Given the description of an element on the screen output the (x, y) to click on. 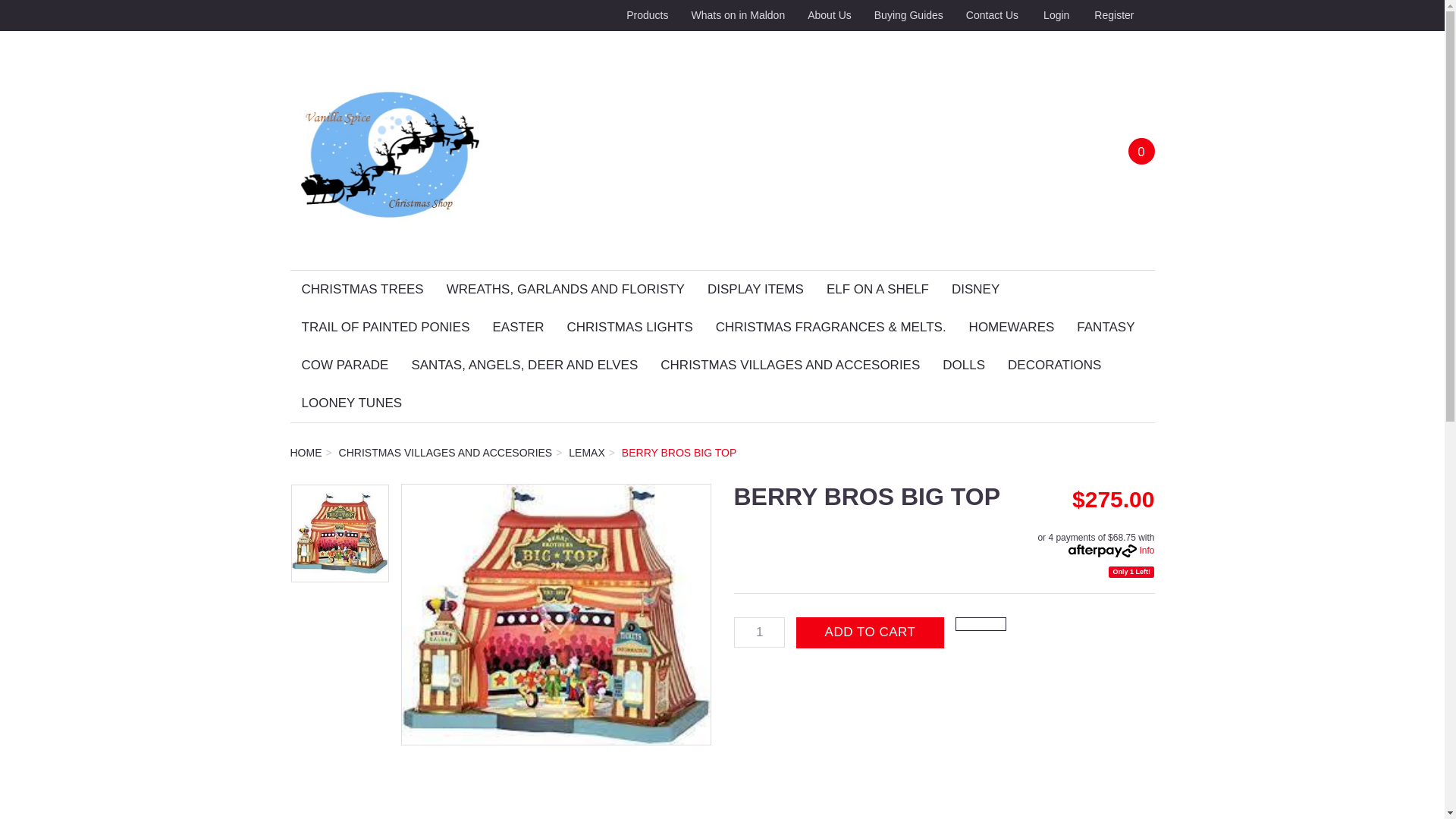
Login (1054, 15)
1 (759, 632)
Contact Us (992, 15)
Whats on in Maldon (737, 15)
Large View (556, 615)
Add to Cart (869, 632)
Buying Guides (909, 15)
Register (1112, 15)
Login (1054, 15)
Register (1112, 15)
Vanilla Spice Christmas Shop (389, 149)
About Us (829, 15)
Products (646, 15)
